Given the description of an element on the screen output the (x, y) to click on. 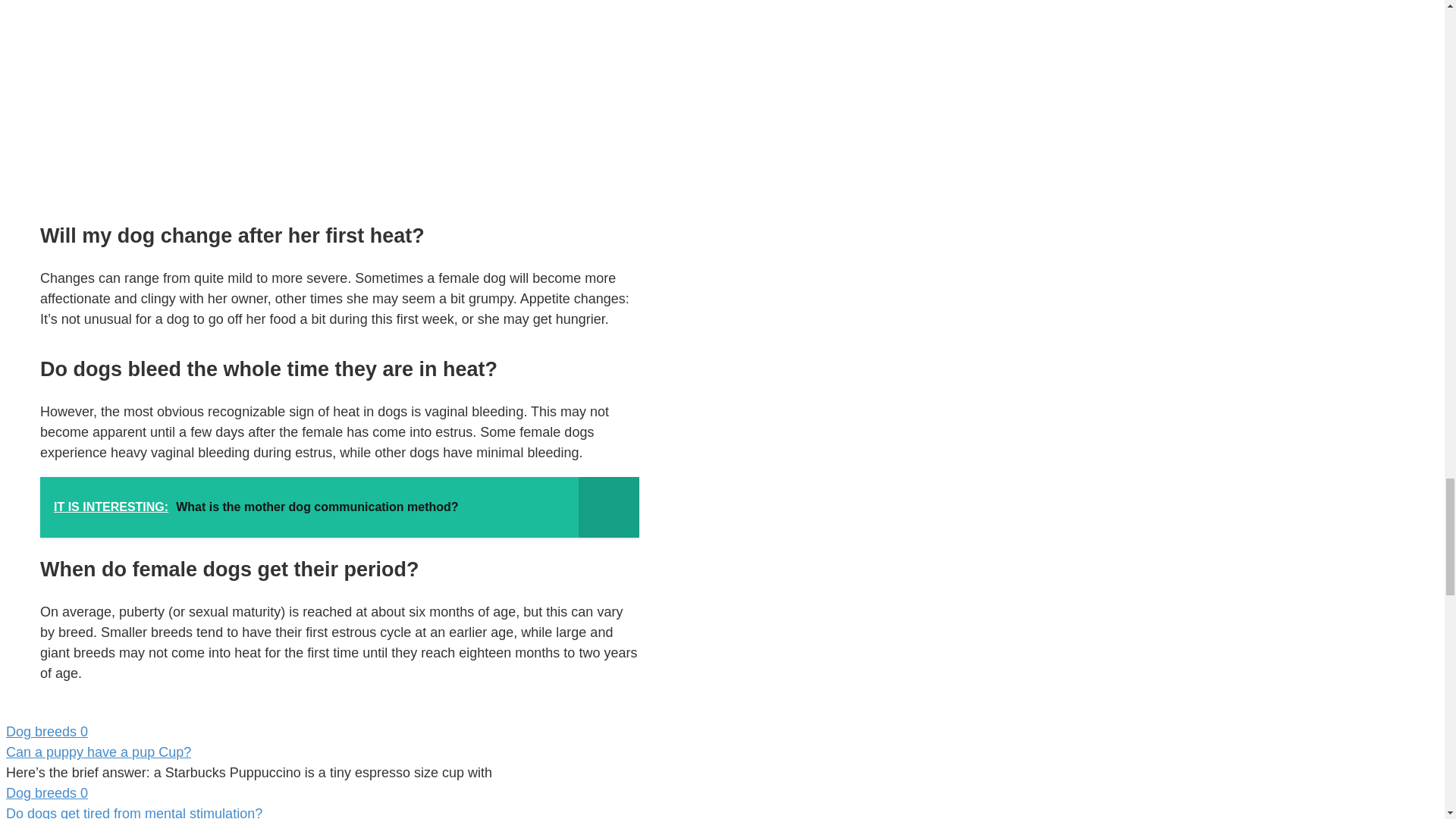
Dog breeds 0 (322, 731)
Dog breeds 0 (322, 792)
Can a puppy have a pup Cup? (97, 752)
Do dogs get tired from mental stimulation? (133, 812)
